Given the description of an element on the screen output the (x, y) to click on. 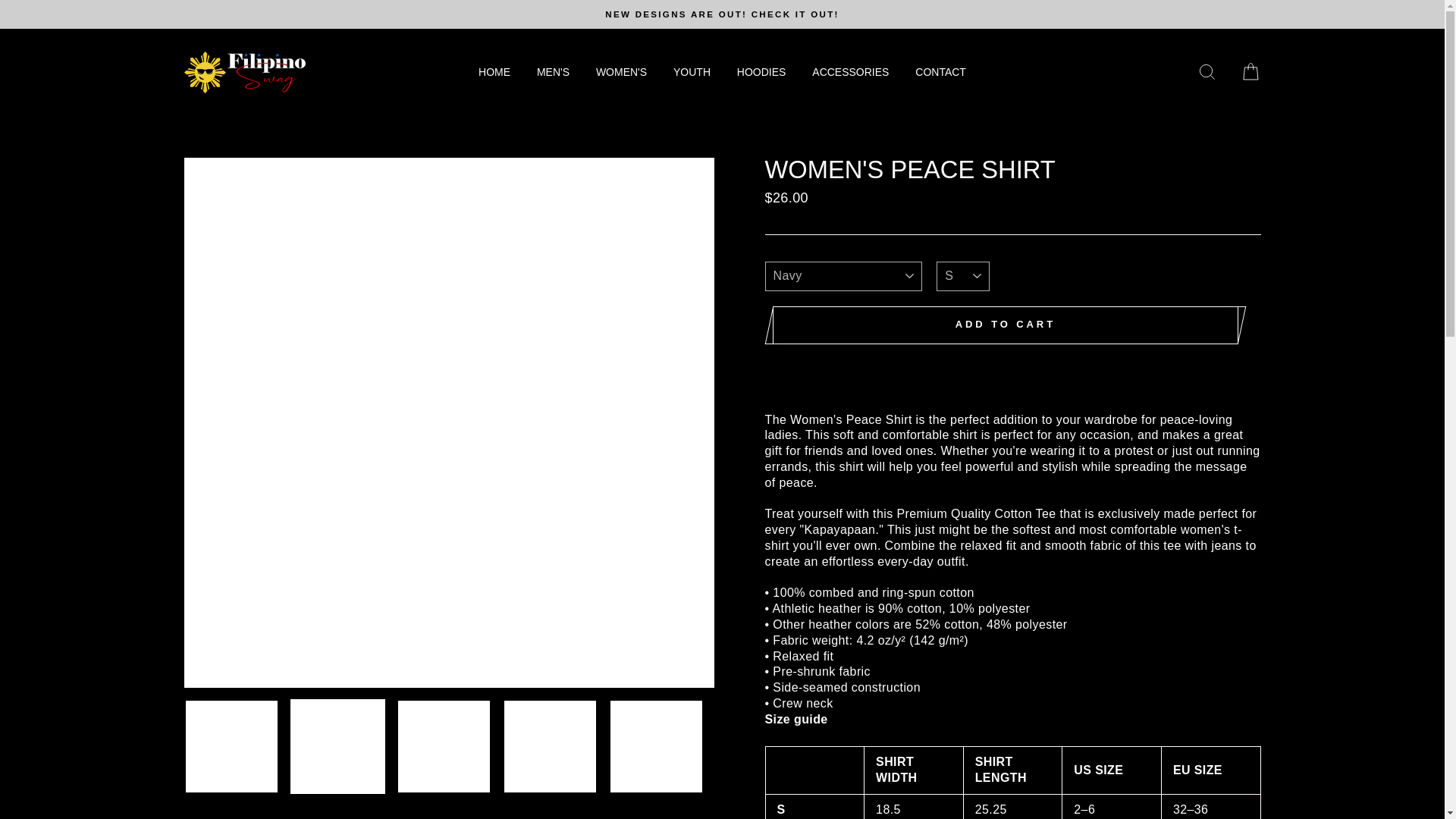
HOME (494, 72)
SEARCH (1207, 72)
WOMEN'S (621, 72)
MEN'S (552, 72)
CART (1249, 72)
HOODIES (761, 72)
ACCESSORIES (849, 72)
ADD TO CART (1005, 324)
YOUTH (692, 72)
